Given the description of an element on the screen output the (x, y) to click on. 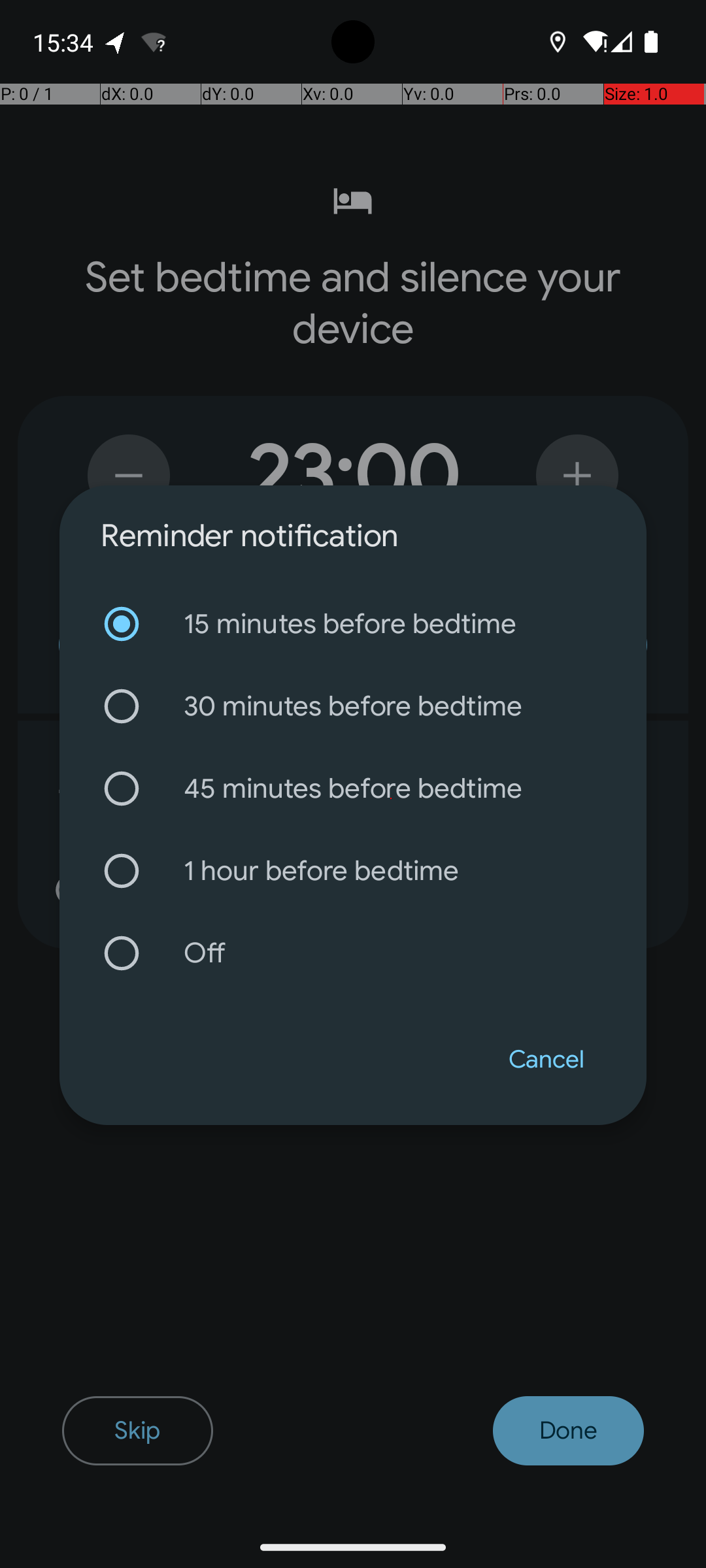
Reminder notification Element type: android.widget.TextView (249, 535)
15 minutes before bedtime Element type: android.widget.CheckedTextView (352, 623)
30 minutes before bedtime Element type: android.widget.CheckedTextView (352, 706)
45 minutes before bedtime Element type: android.widget.CheckedTextView (352, 788)
1 hour before bedtime Element type: android.widget.CheckedTextView (352, 870)
